Given the description of an element on the screen output the (x, y) to click on. 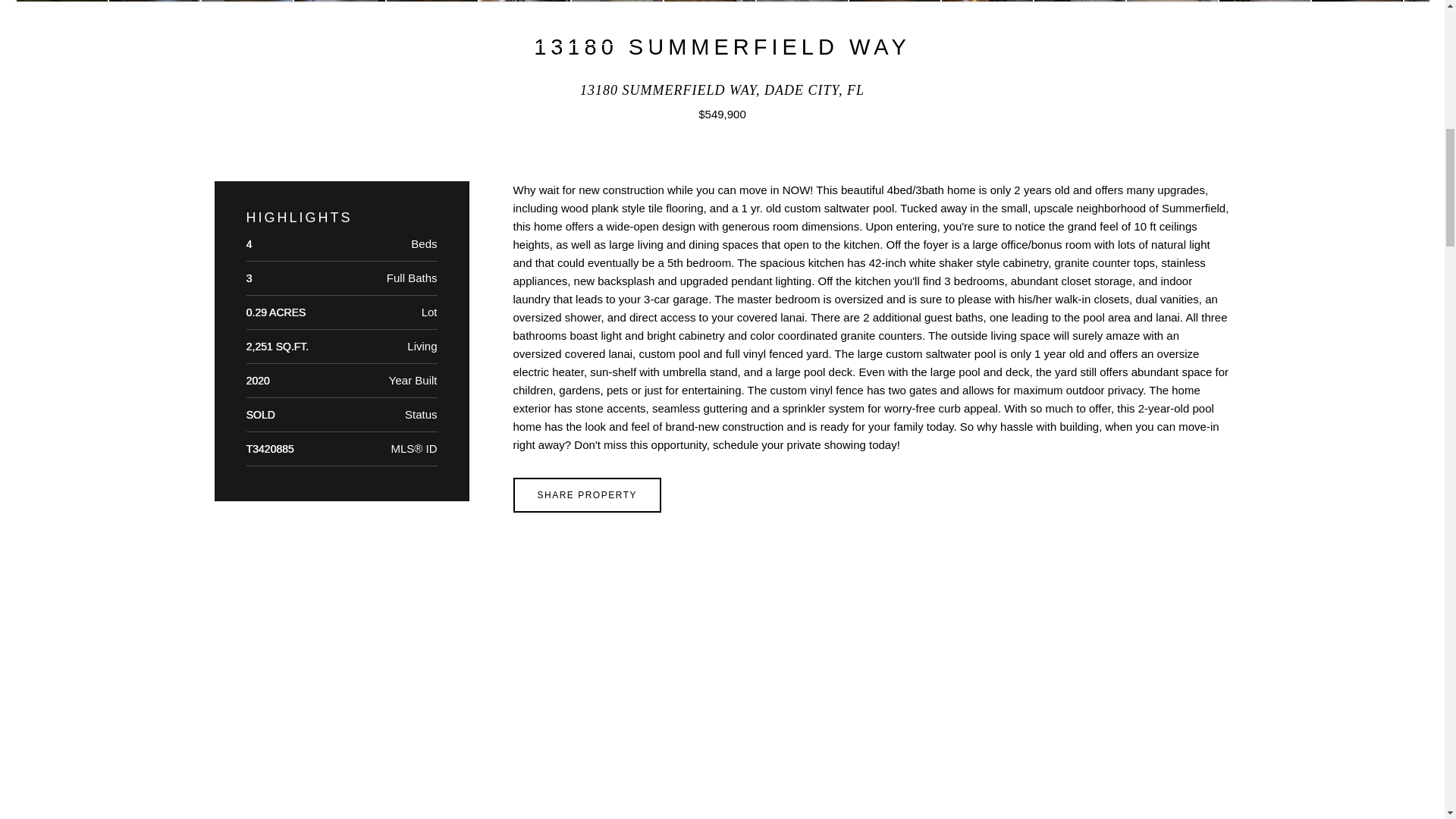
SHARE PROPERTY (586, 494)
